Given the description of an element on the screen output the (x, y) to click on. 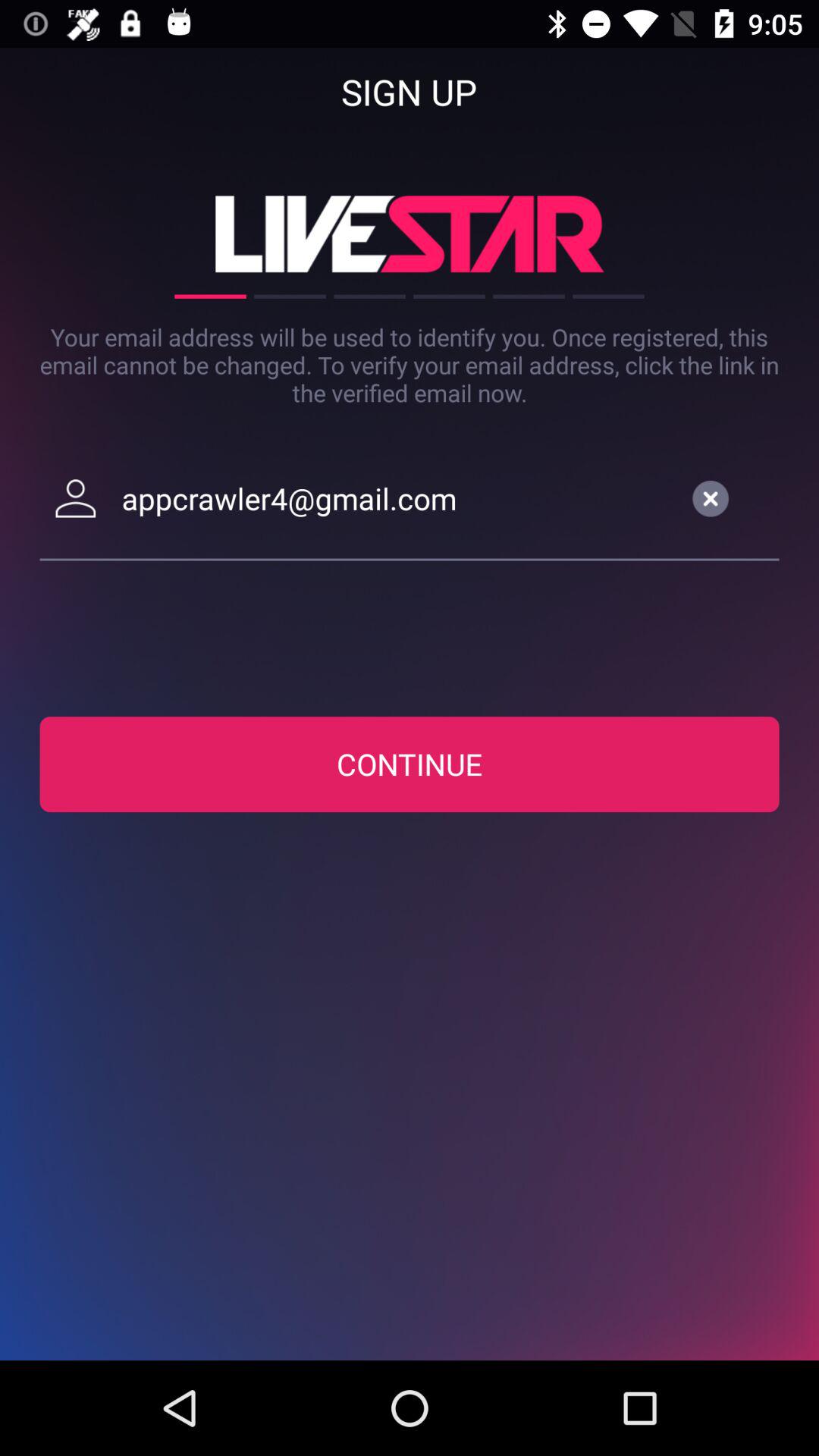
click the appcrawler4@gmail.com (396, 498)
